Given the description of an element on the screen output the (x, y) to click on. 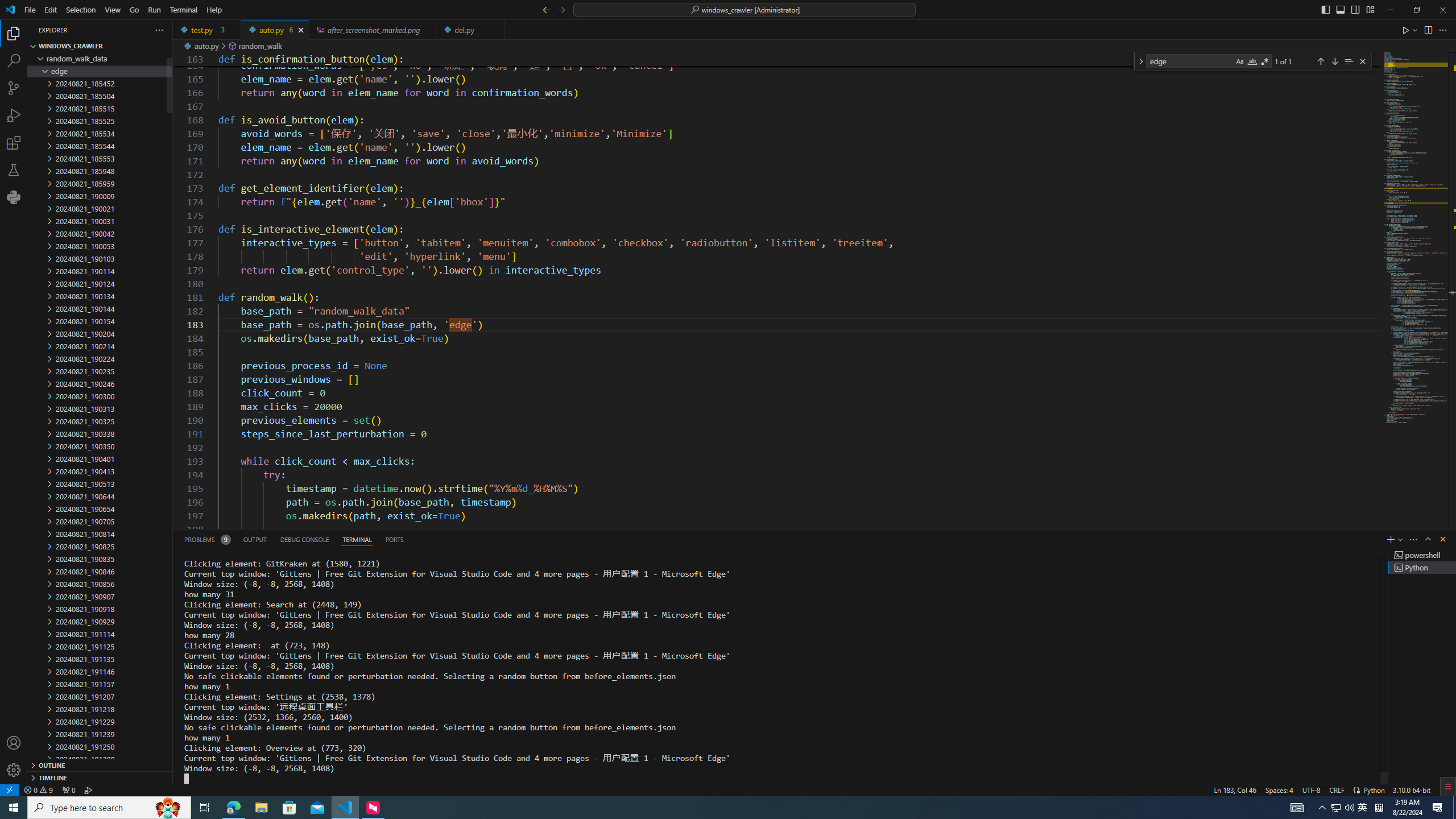
Match Whole Word (Alt+W) (1251, 61)
Close (Ctrl+F4) (496, 29)
Split Editor Right (Ctrl+\) [Alt] Split Editor Down (1428, 29)
View (112, 9)
Run or Debug... (1414, 29)
Customize Layout... (1369, 9)
Source Control (Ctrl+Shift+G) (13, 87)
Python (13, 197)
Go Forward (Alt+RightArrow) (560, 9)
Spaces: 4 (1278, 789)
Toggle Panel (Ctrl+J) (1339, 9)
